Given the description of an element on the screen output the (x, y) to click on. 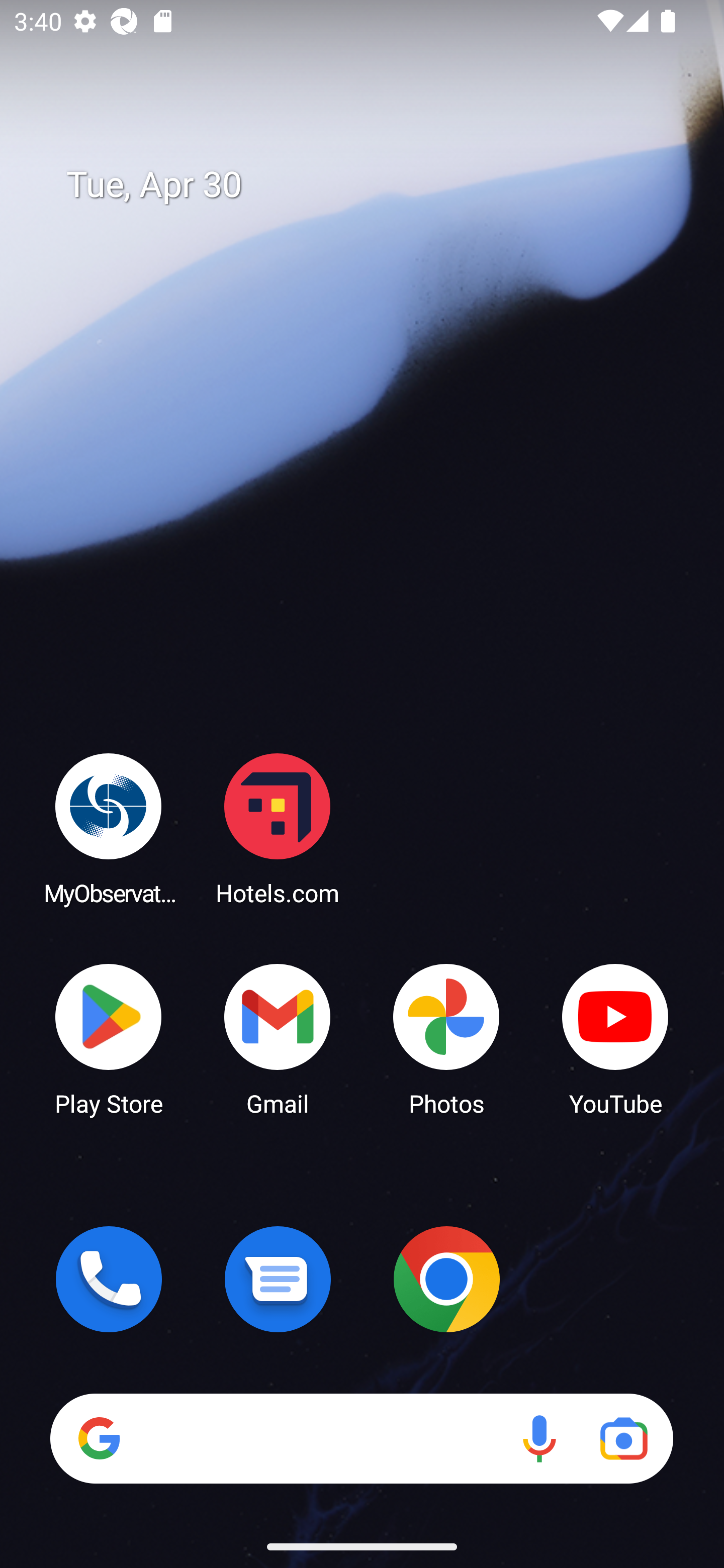
Tue, Apr 30 (375, 184)
MyObservatory (108, 828)
Hotels.com (277, 828)
Play Store (108, 1038)
Gmail (277, 1038)
Photos (445, 1038)
YouTube (615, 1038)
Phone (108, 1279)
Messages (277, 1279)
Chrome (446, 1279)
Voice search (539, 1438)
Google Lens (623, 1438)
